Given the description of an element on the screen output the (x, y) to click on. 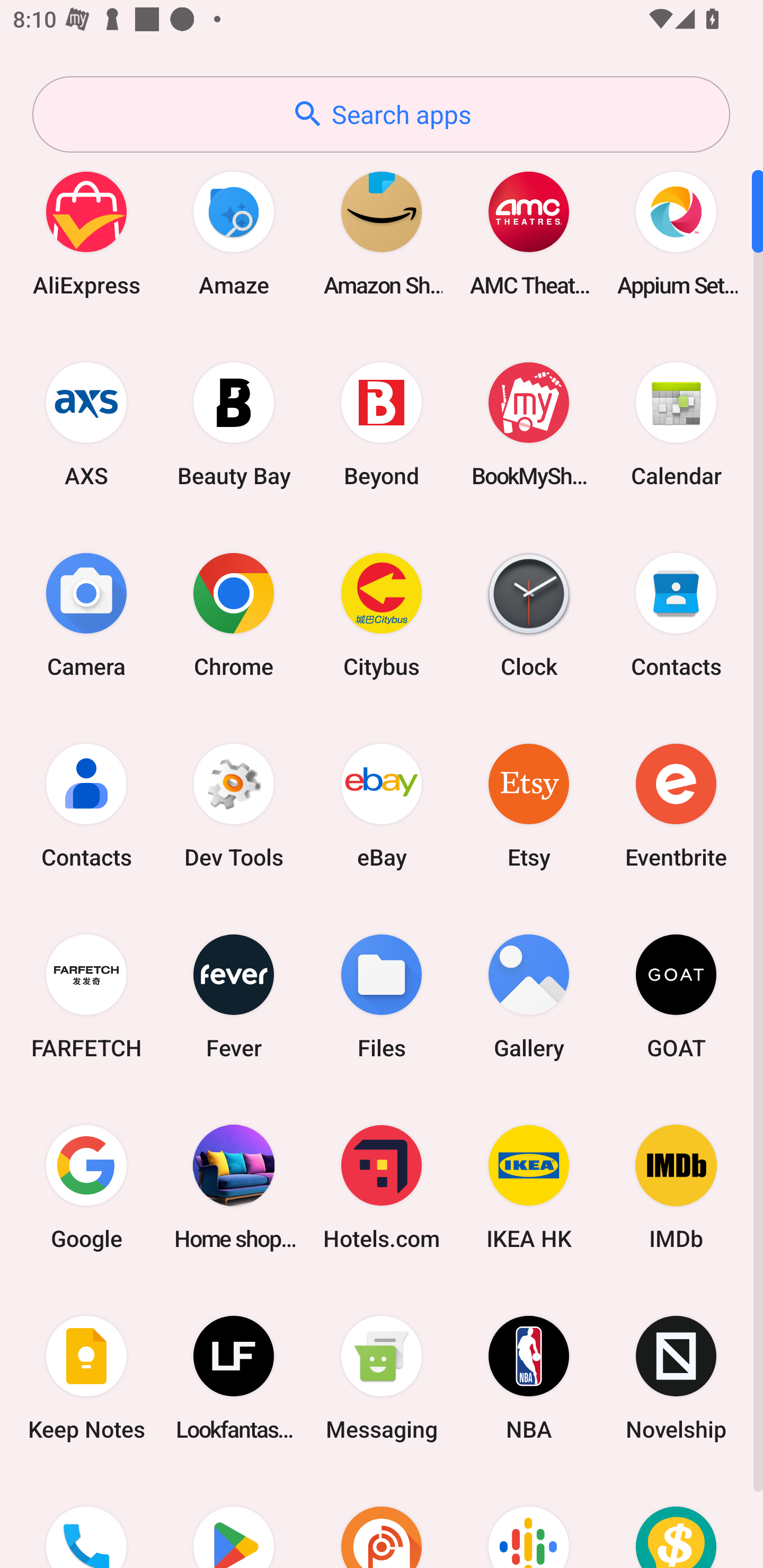
  Search apps (381, 114)
AliExpress (86, 233)
Amaze (233, 233)
Amazon Shopping (381, 233)
AMC Theatres (528, 233)
Appium Settings (676, 233)
AXS (86, 424)
Beauty Bay (233, 424)
Beyond (381, 424)
BookMyShow (528, 424)
Calendar (676, 424)
Camera (86, 614)
Chrome (233, 614)
Citybus (381, 614)
Clock (528, 614)
Contacts (676, 614)
Contacts (86, 805)
Dev Tools (233, 805)
eBay (381, 805)
Etsy (528, 805)
Eventbrite (676, 805)
FARFETCH (86, 996)
Fever (233, 996)
Files (381, 996)
Gallery (528, 996)
GOAT (676, 996)
Google (86, 1186)
Home shopping (233, 1186)
Hotels.com (381, 1186)
IKEA HK (528, 1186)
IMDb (676, 1186)
Keep Notes (86, 1377)
Lookfantastic (233, 1377)
Messaging (381, 1377)
NBA (528, 1377)
Novelship (676, 1377)
Phone (86, 1520)
Play Store (233, 1520)
Podcast Addict (381, 1520)
Podcasts (528, 1520)
Price (676, 1520)
